Given the description of an element on the screen output the (x, y) to click on. 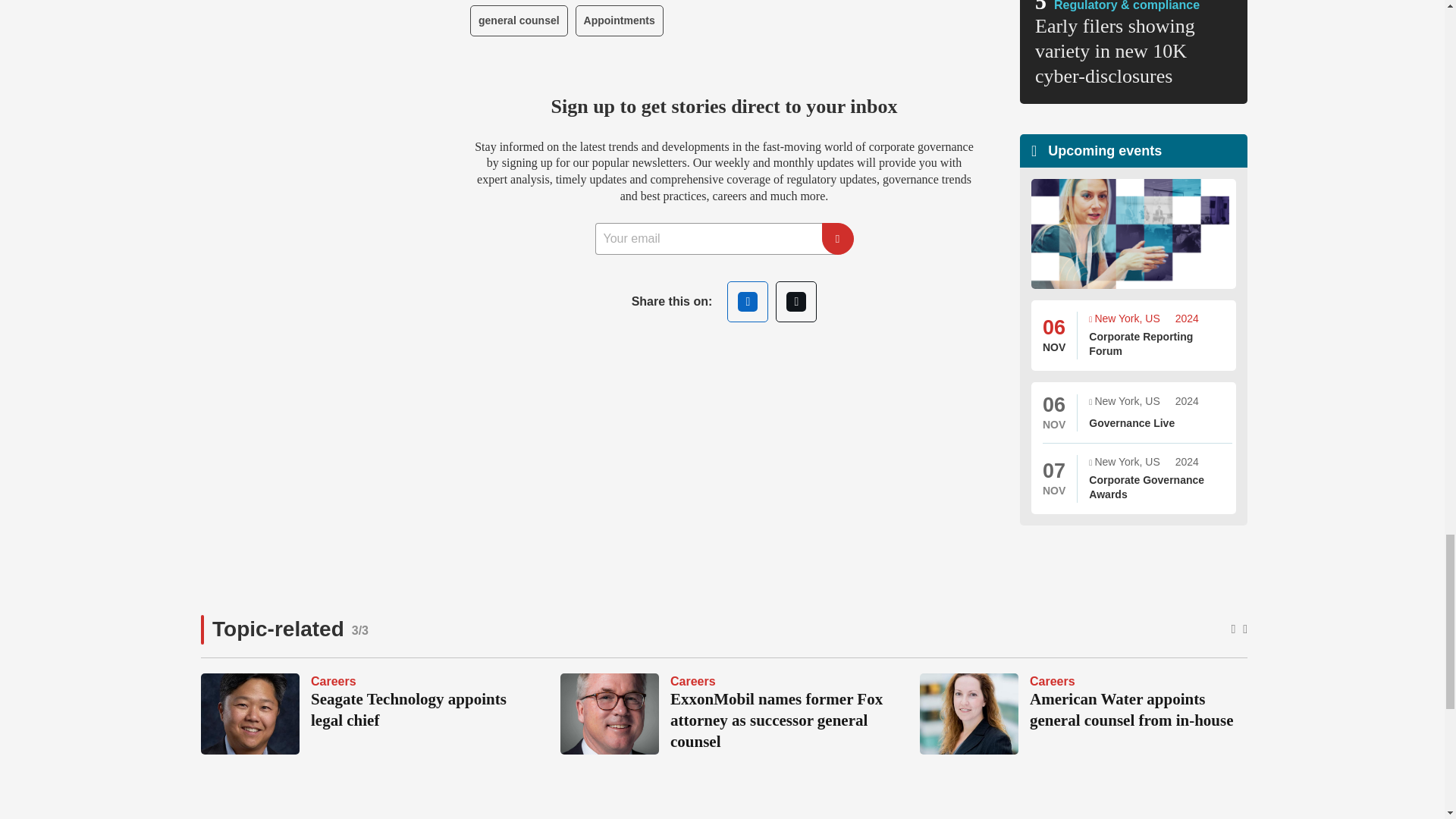
general counsel (518, 20)
Appointments (619, 20)
Sign Up (837, 238)
